Given the description of an element on the screen output the (x, y) to click on. 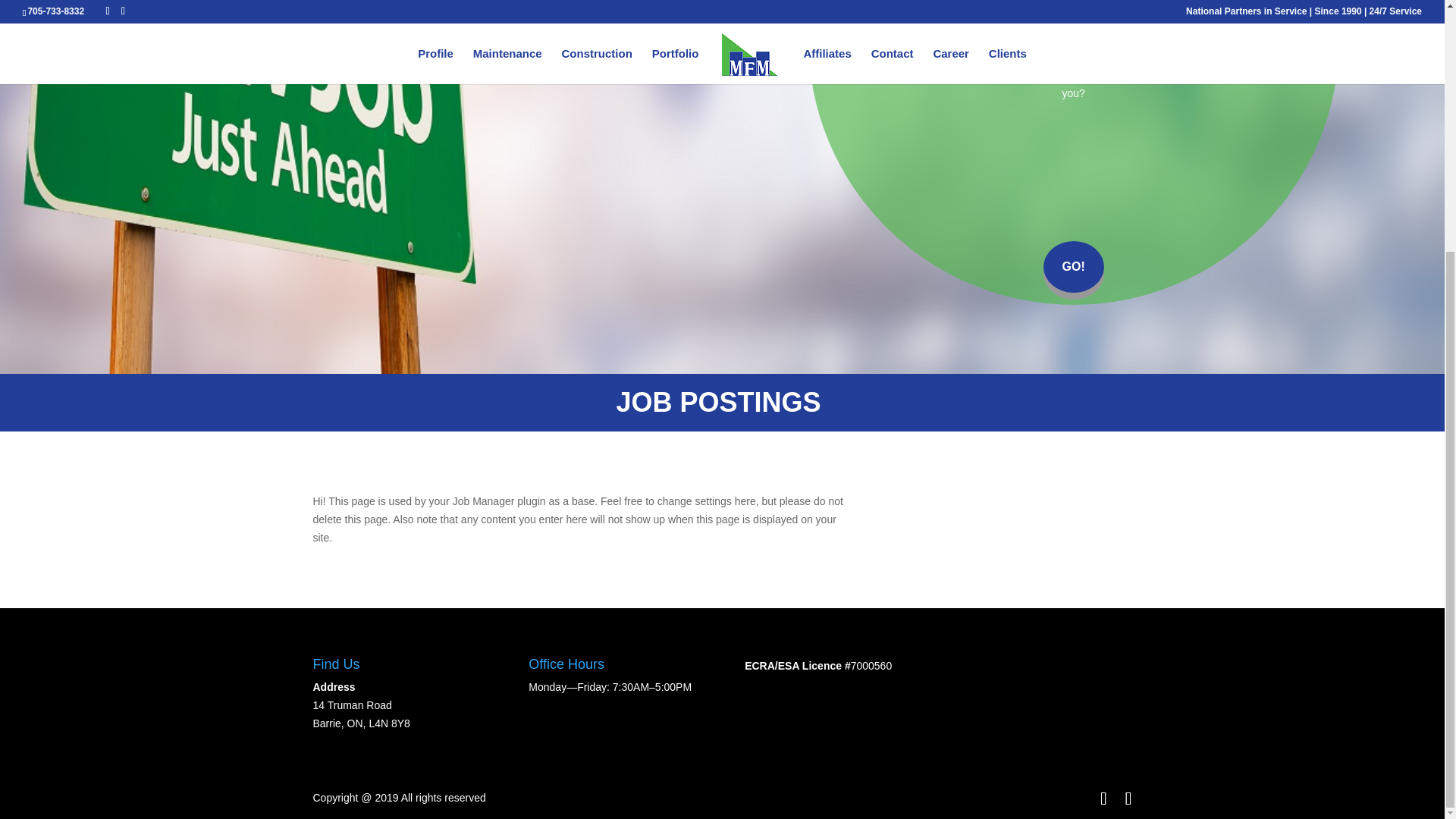
GO! (1073, 266)
